Given the description of an element on the screen output the (x, y) to click on. 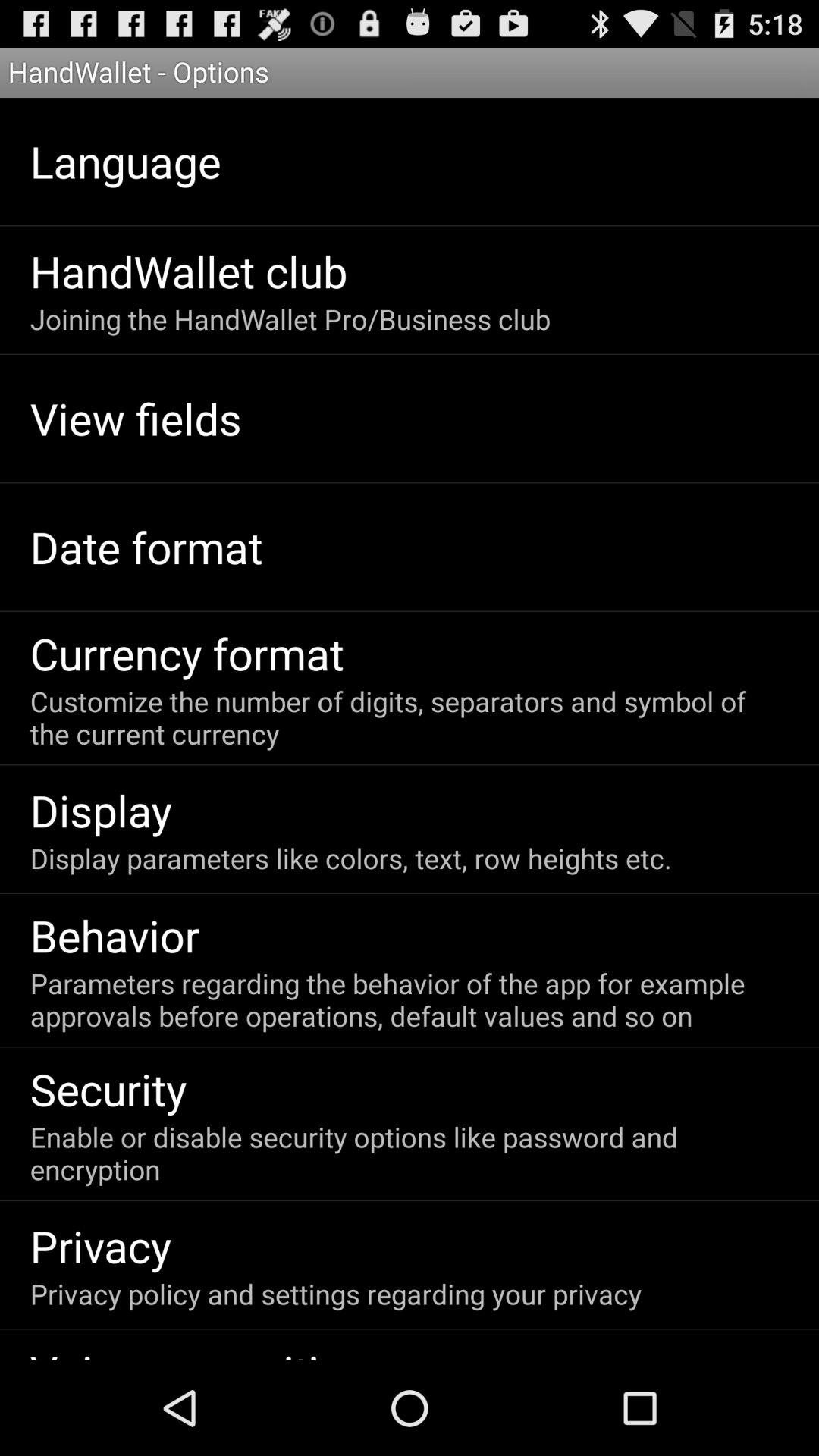
swipe until enable or disable icon (408, 1153)
